Given the description of an element on the screen output the (x, y) to click on. 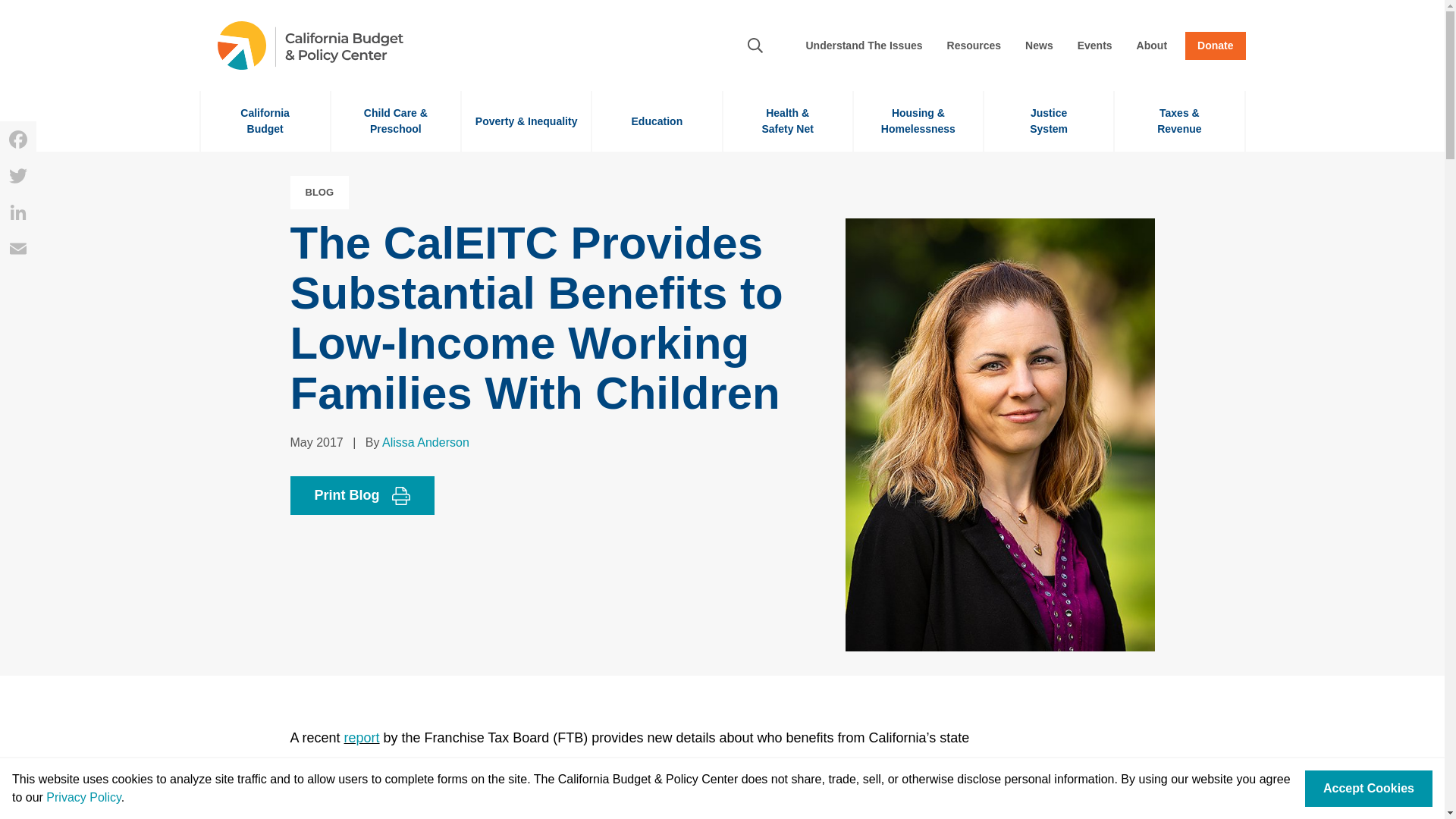
California Earned Income Tax Credit Report (361, 736)
Understand The Issues (863, 45)
Education (1048, 120)
Events (656, 120)
About (264, 120)
Donate (1094, 45)
Resources (1152, 45)
News (1214, 45)
